Given the description of an element on the screen output the (x, y) to click on. 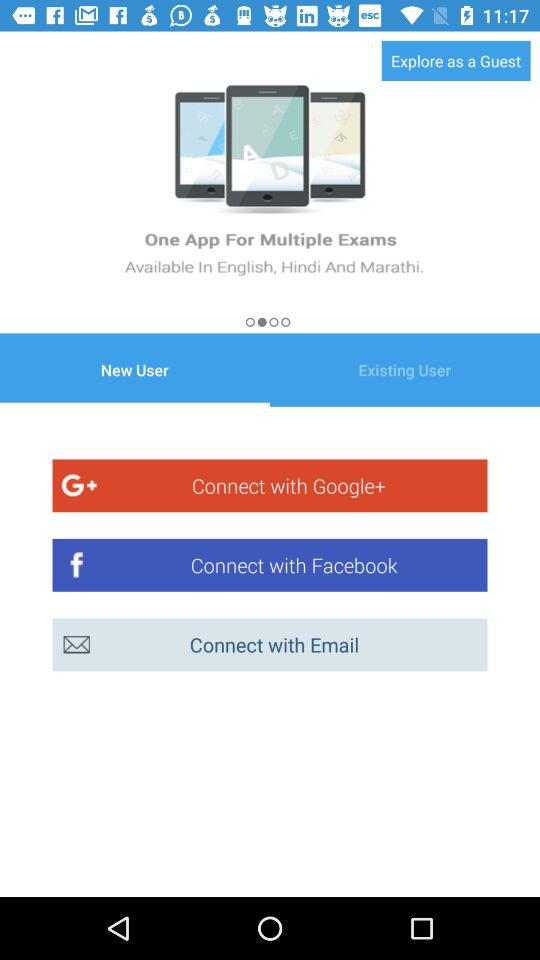
scroll to explore as a item (455, 60)
